Given the description of an element on the screen output the (x, y) to click on. 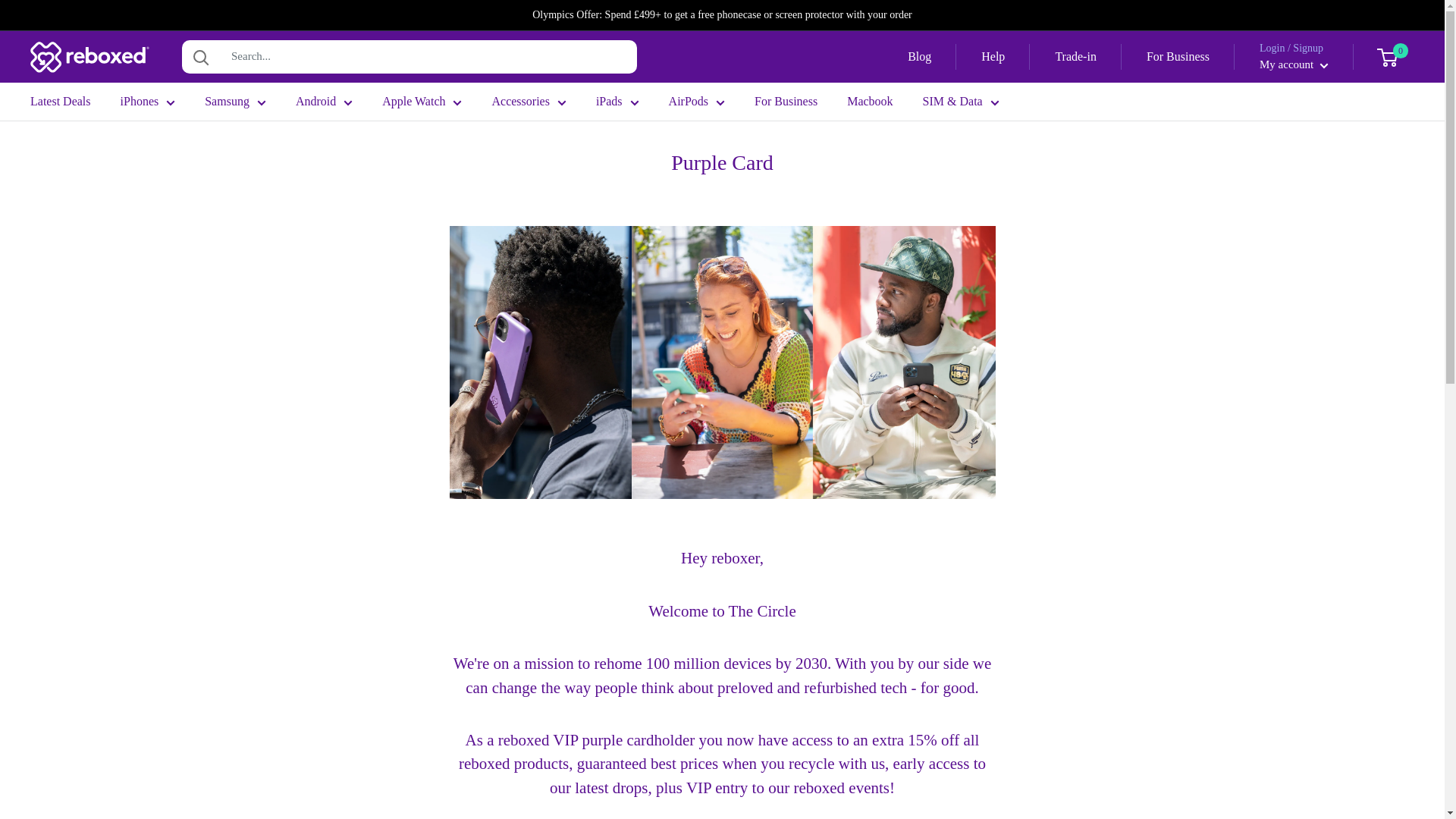
Trade-in (1075, 56)
For Business (1178, 56)
My account (1293, 64)
0 (1395, 56)
Blog (919, 56)
Help (992, 56)
